Given the description of an element on the screen output the (x, y) to click on. 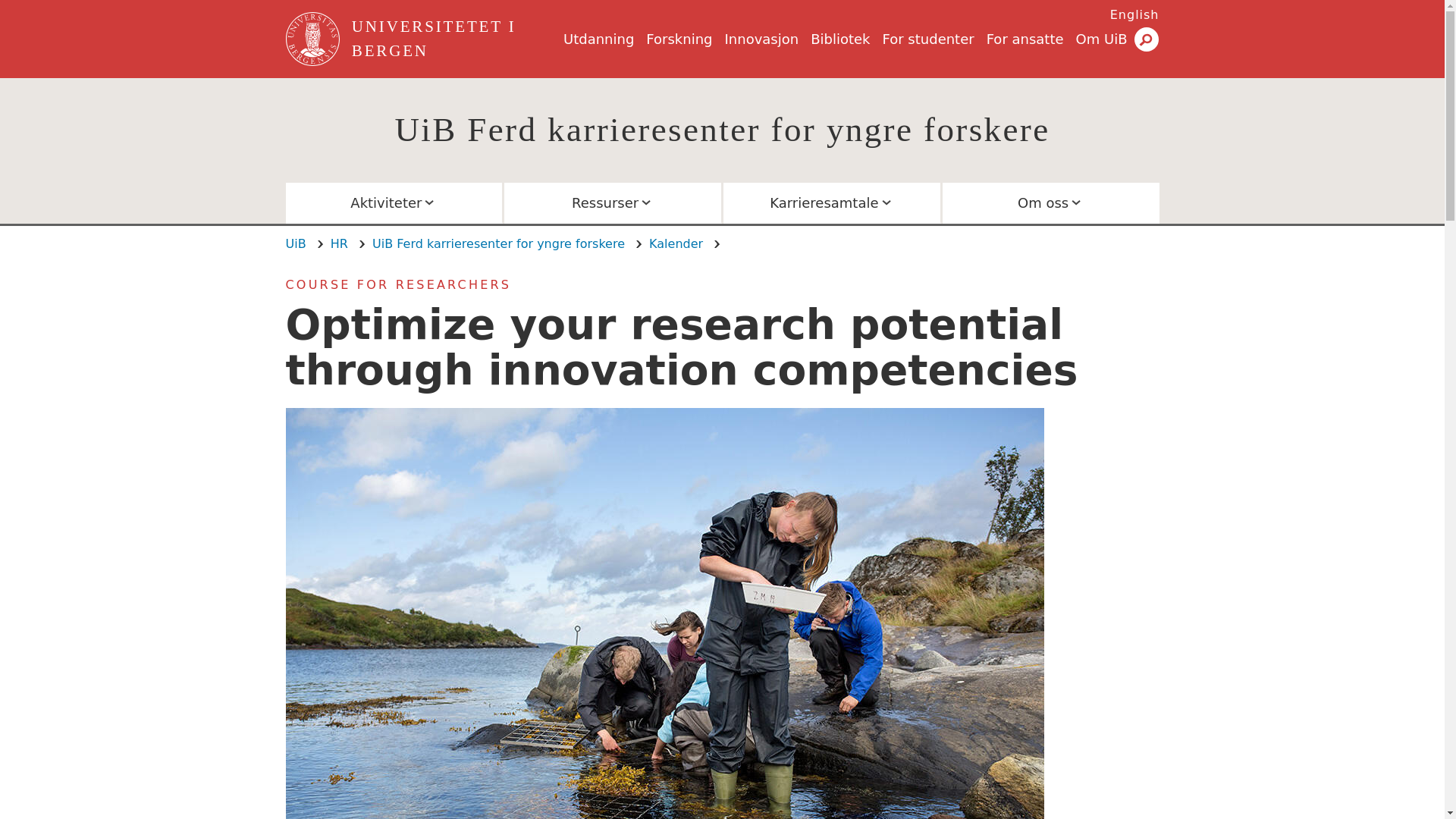
UiB Ferd karrieresenter for yngre forskere (721, 129)
Innovasjon (762, 38)
For studenter (928, 38)
Hjem (454, 39)
Hjem (313, 39)
UNIVERSITETET I BERGEN (454, 39)
Om UiB (1100, 38)
For ansatte (1025, 38)
English (1133, 14)
Bibliotek (839, 38)
Utdanning (598, 38)
Forskning (678, 38)
